Given the description of an element on the screen output the (x, y) to click on. 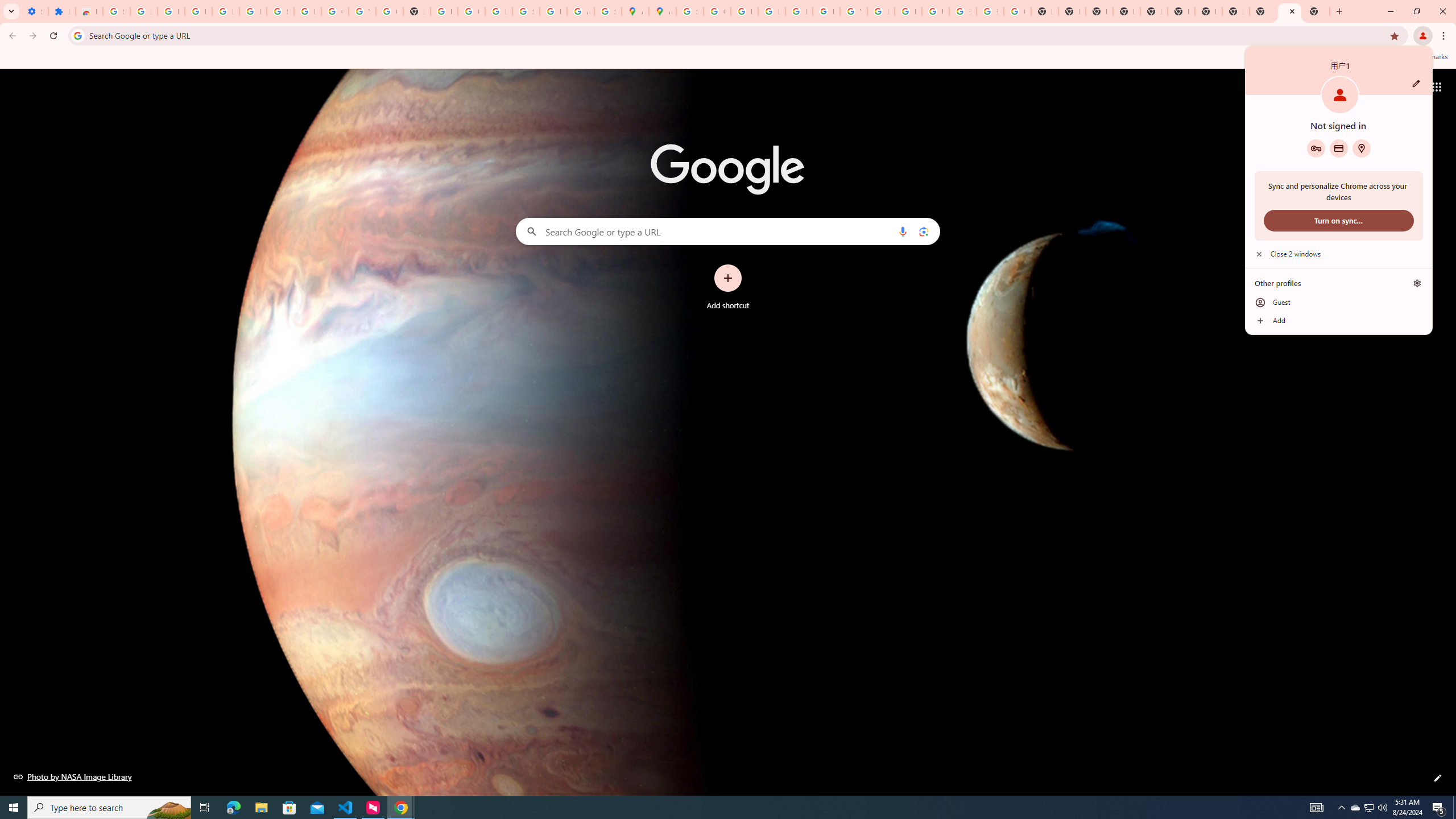
Search Google or type a URL (727, 230)
Sign in - Google Accounts (690, 11)
Guest (1338, 302)
Privacy Help Center - Policies Help (743, 11)
Google Password Manager (1315, 148)
Payment methods (1368, 807)
Start (1338, 148)
